Given the description of an element on the screen output the (x, y) to click on. 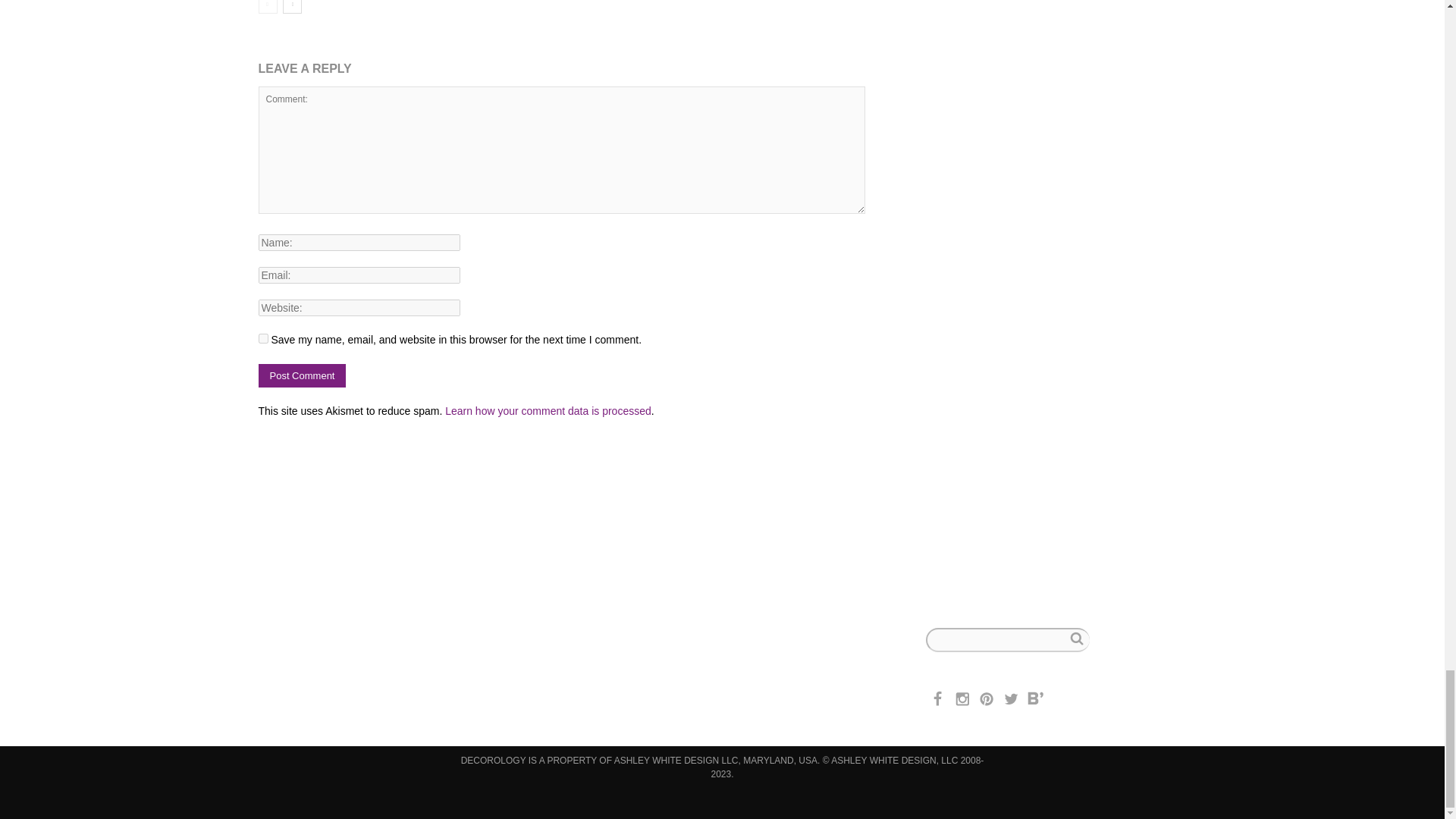
Post Comment (301, 375)
yes (262, 338)
Search (1075, 638)
